Given the description of an element on the screen output the (x, y) to click on. 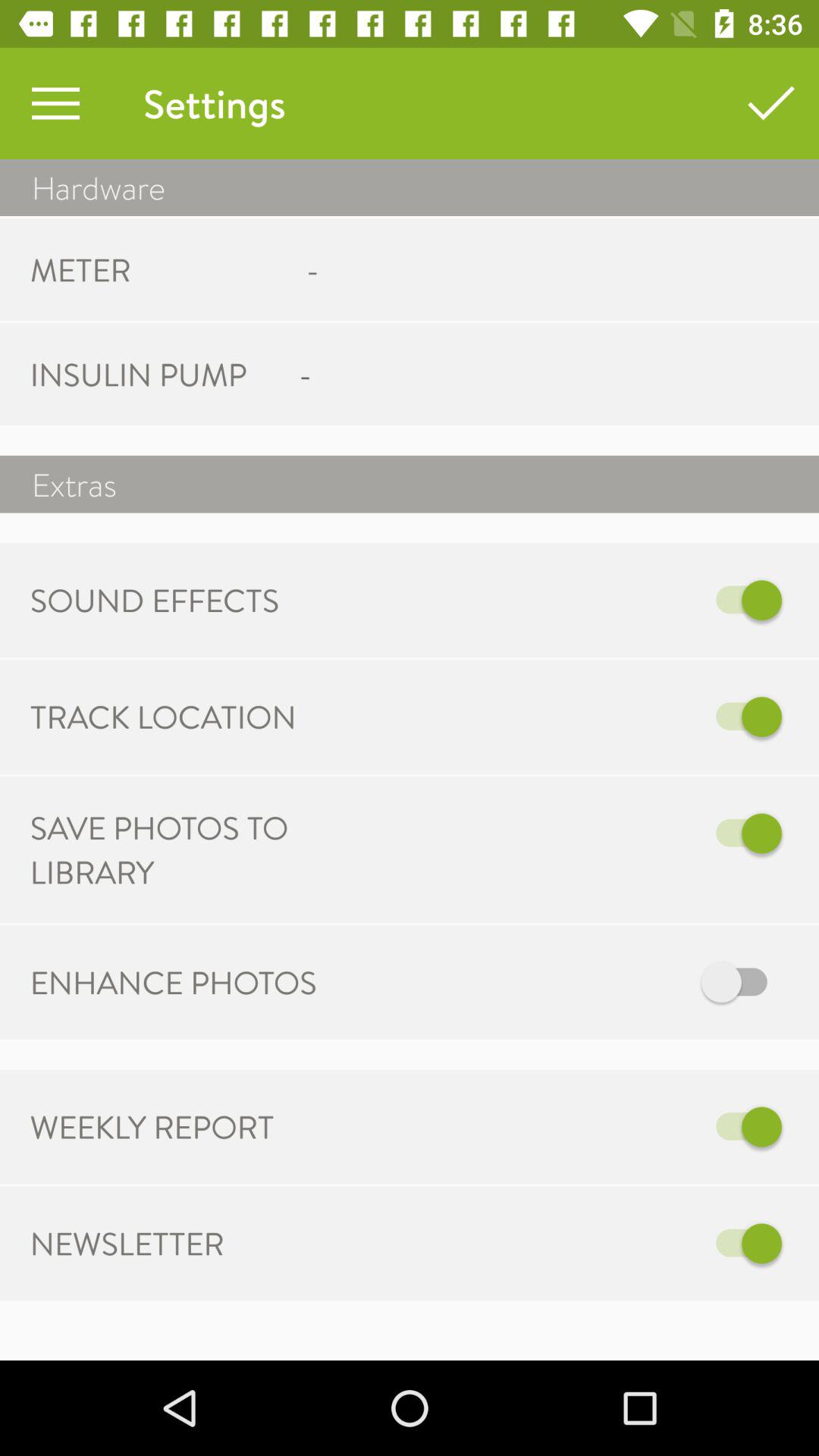
open the item next to settings icon (55, 103)
